Given the description of an element on the screen output the (x, y) to click on. 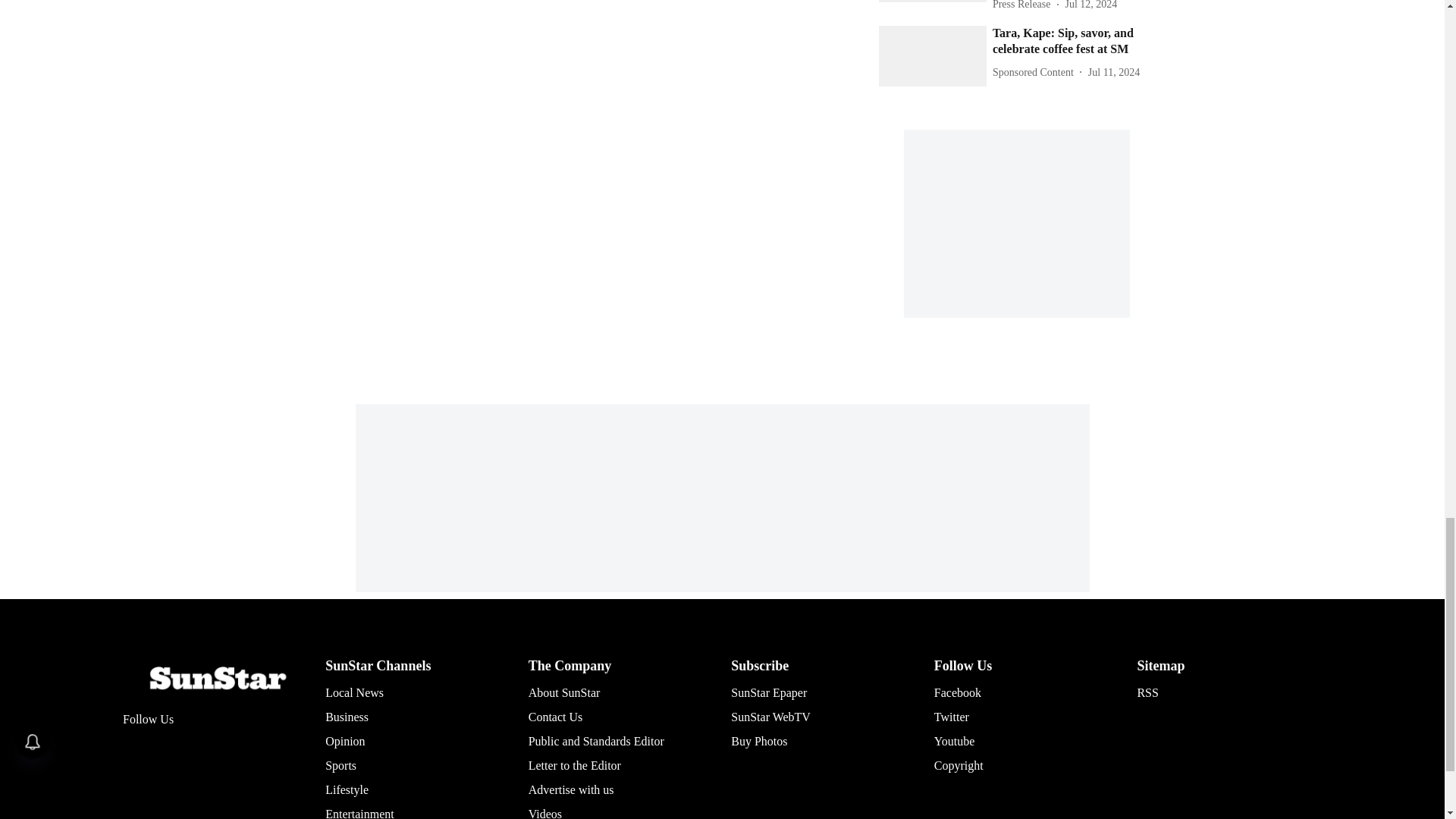
2024-07-12 02:00 (1090, 6)
2024-07-11 00:59 (1113, 72)
